Given the description of an element on the screen output the (x, y) to click on. 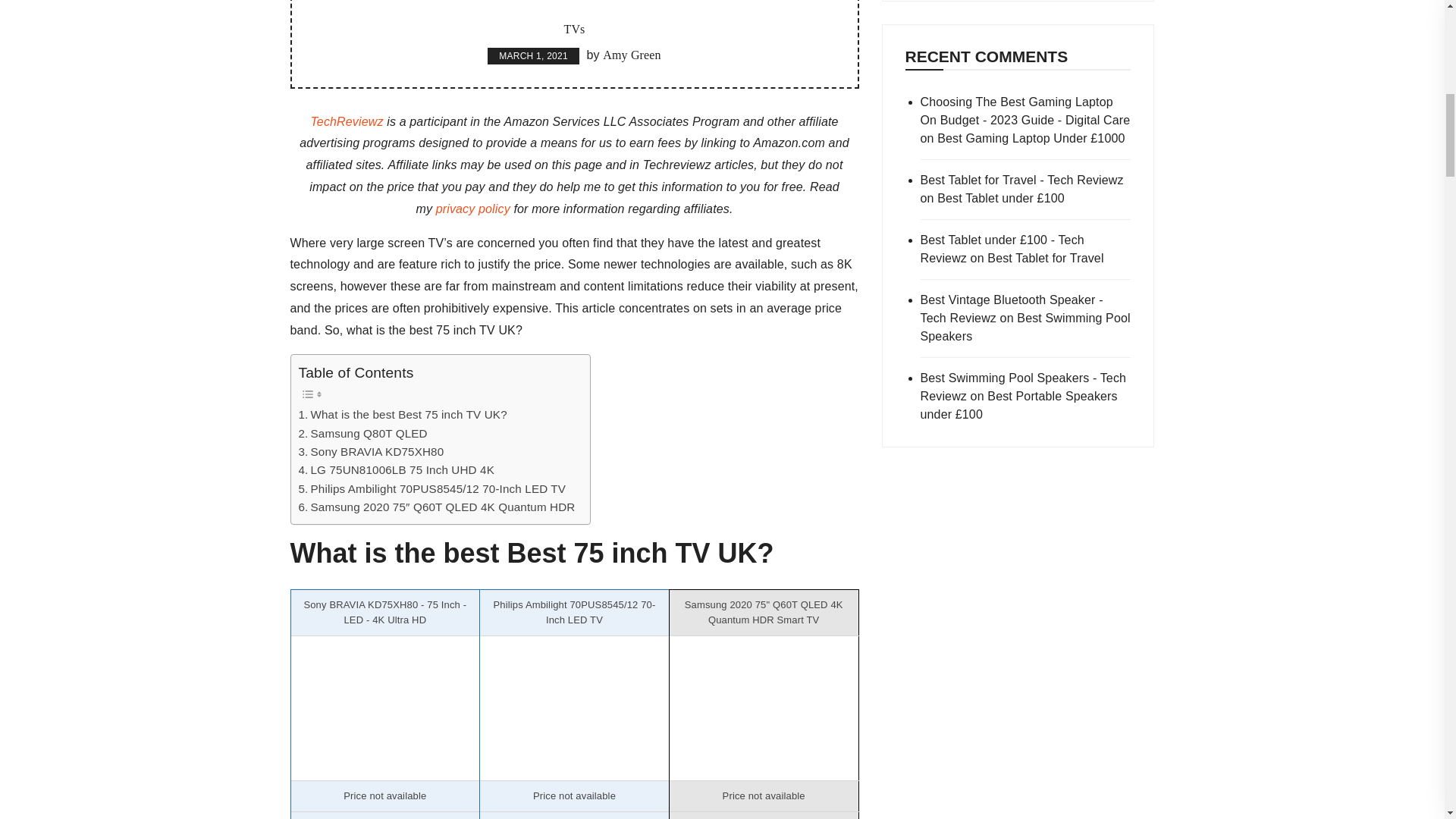
LG 75UN81006LB 75 Inch UHD 4K (396, 470)
MARCH 1, 2021 (533, 55)
What is the best Best 75 inch TV UK? (402, 414)
Amy Green (631, 54)
TVs (574, 29)
What is the best Best 75 inch TV UK? (402, 414)
Sony BRAVIA KD75XH80 (371, 452)
TechReviewz (346, 121)
LG 75UN81006LB 75 Inch UHD 4K (396, 470)
Samsung Q80T QLED (363, 434)
privacy policy (473, 208)
Samsung Q80T QLED (363, 434)
Sony BRAVIA KD75XH80 (371, 452)
